Given the description of an element on the screen output the (x, y) to click on. 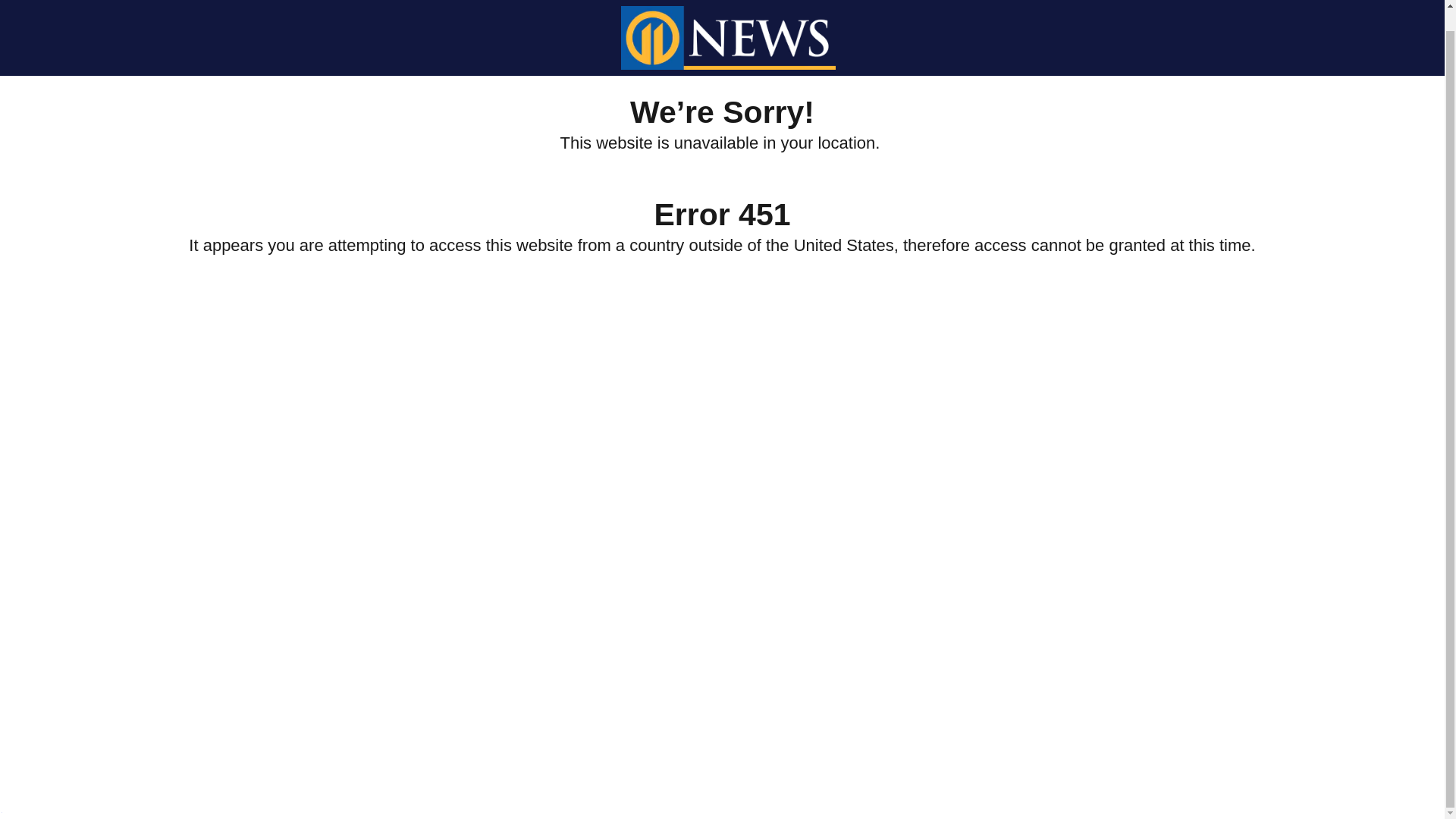
WPXI Channel 11 Pittsburgh Logo (728, 24)
